Given the description of an element on the screen output the (x, y) to click on. 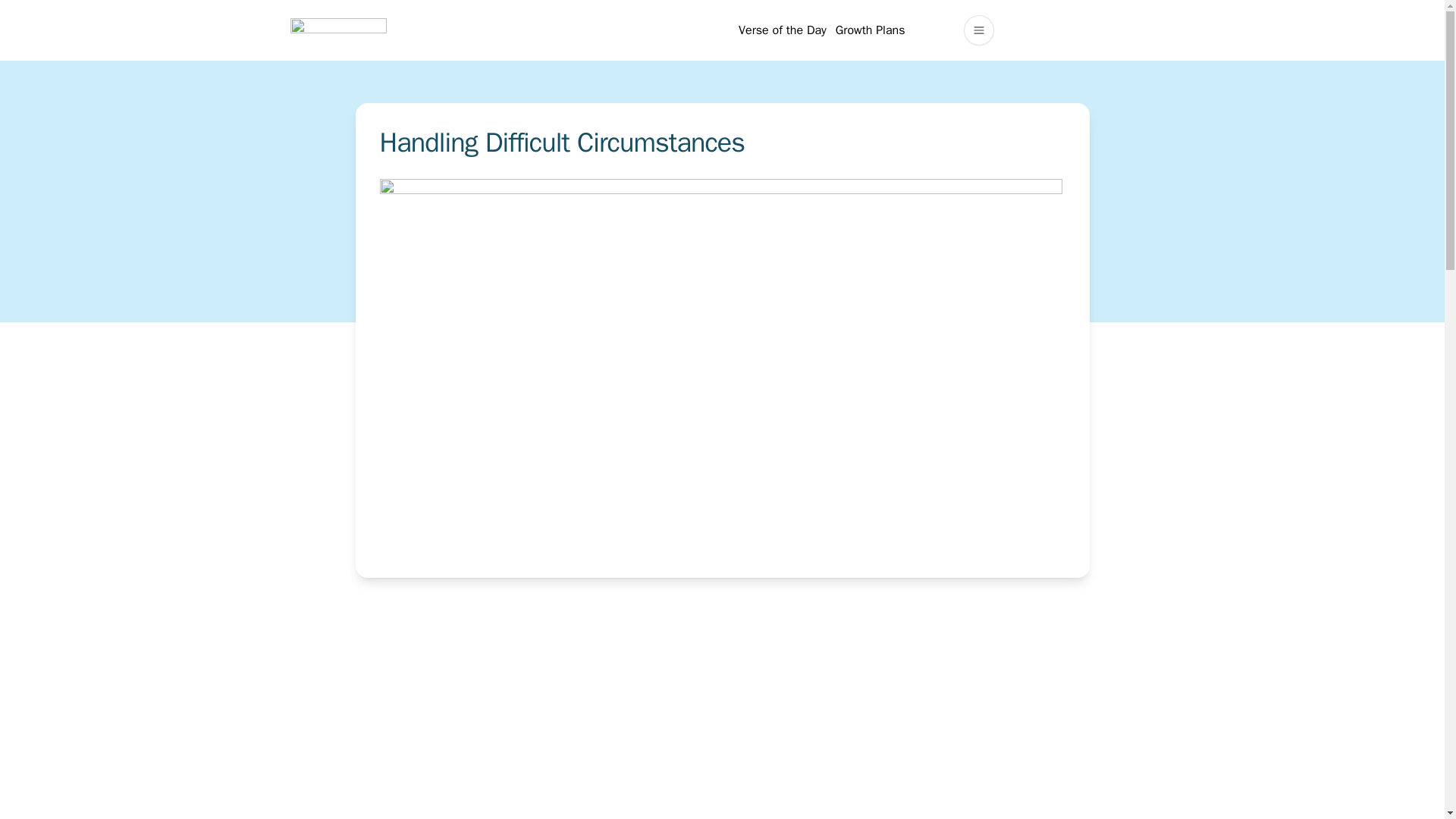
Growth Plans (870, 29)
Verse of the Day (782, 29)
